Given the description of an element on the screen output the (x, y) to click on. 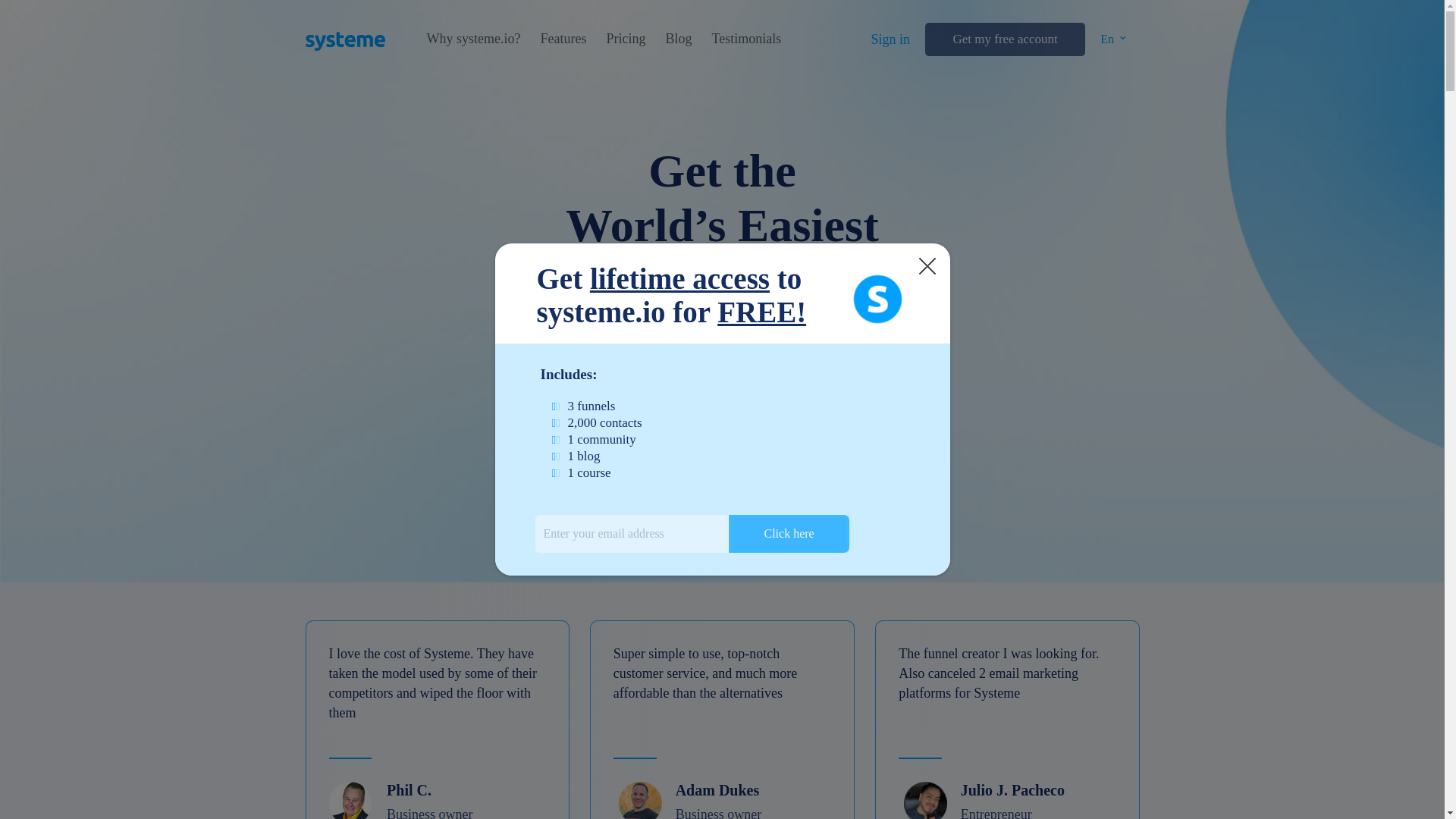
Why systeme.io? (472, 38)
Pricing (625, 38)
Blog (678, 38)
Testimonials (745, 38)
Get my free account (1004, 39)
Sign in (890, 39)
Features (563, 38)
